Given the description of an element on the screen output the (x, y) to click on. 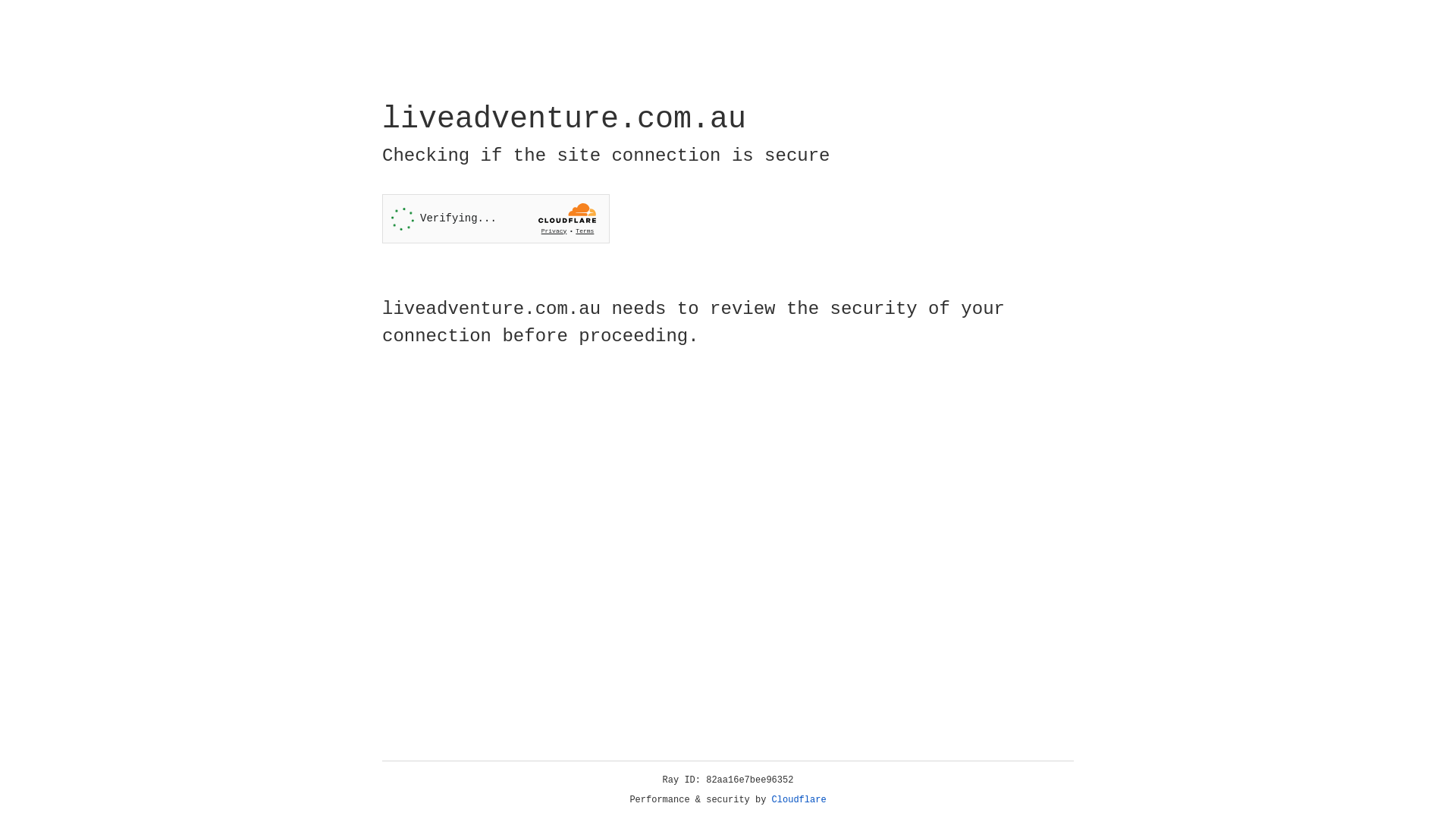
Widget containing a Cloudflare security challenge Element type: hover (495, 218)
Cloudflare Element type: text (798, 799)
